Given the description of an element on the screen output the (x, y) to click on. 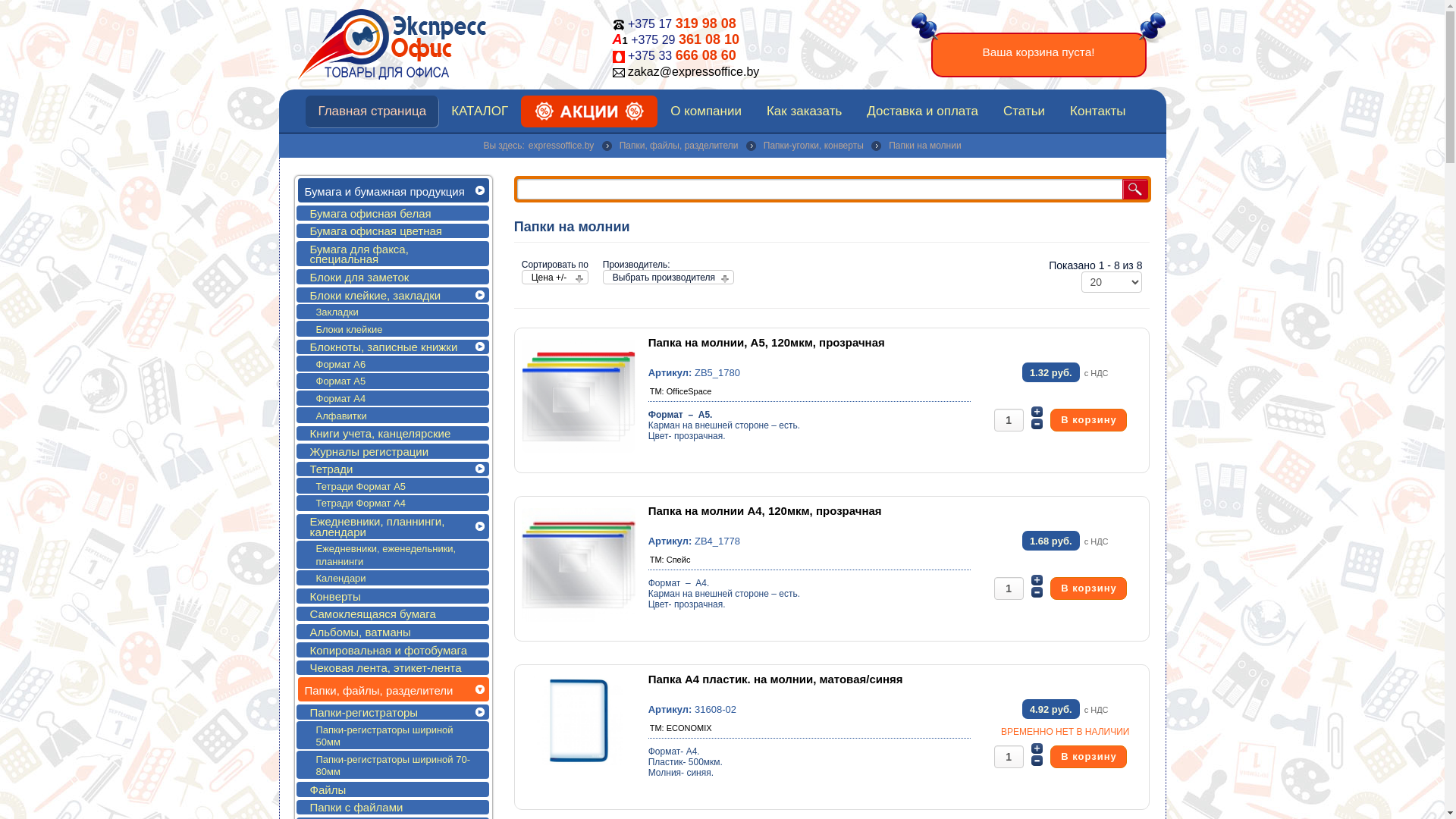
zakaz@expressoffice.by Element type: text (693, 71)
expressoffice.by Element type: text (561, 145)
